Given the description of an element on the screen output the (x, y) to click on. 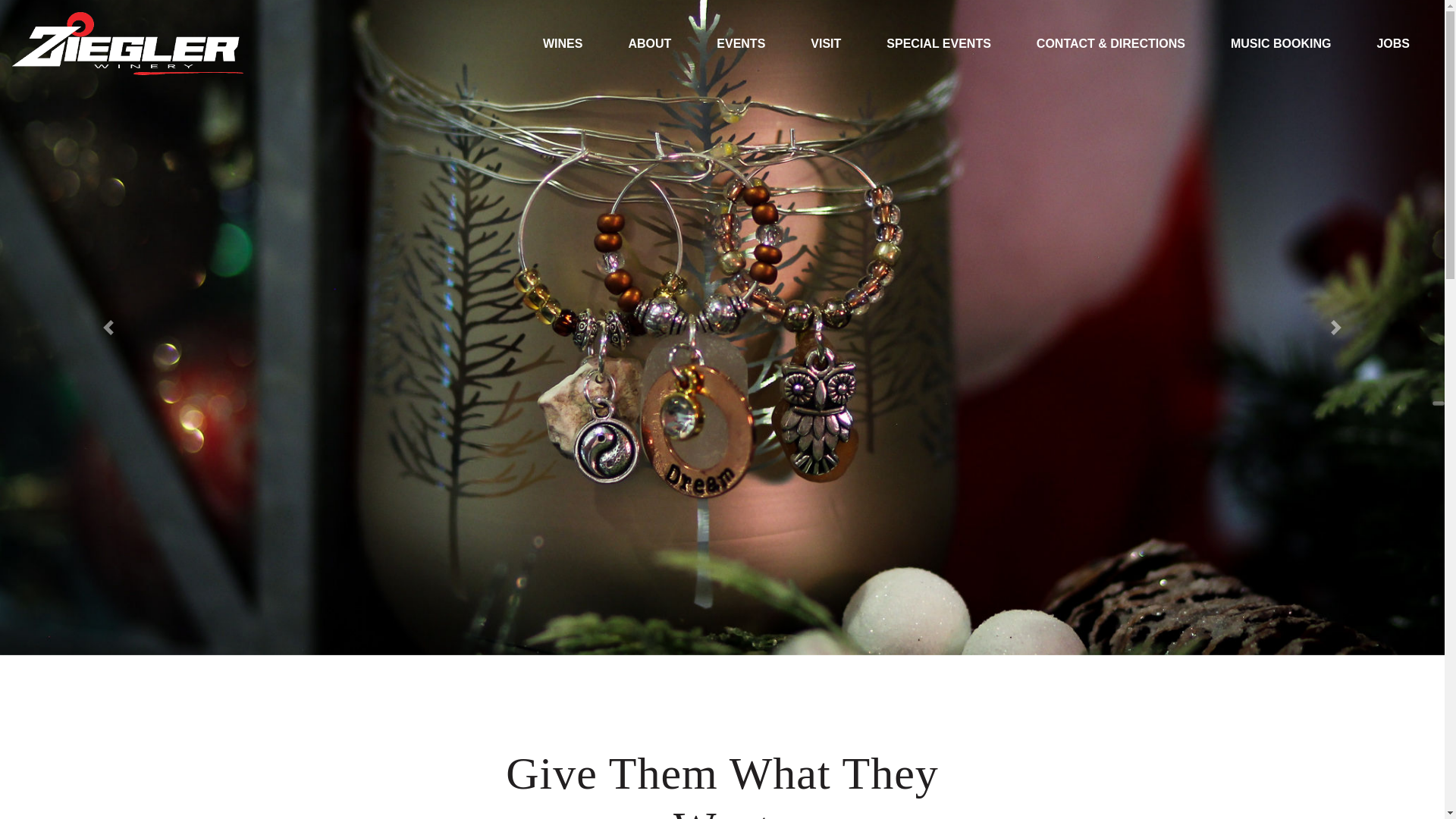
VISIT (825, 44)
MUSIC BOOKING (1281, 44)
WINES (562, 44)
ABOUT (649, 44)
JOBS (1393, 44)
EVENTS (740, 44)
SPECIAL EVENTS (938, 44)
